Given the description of an element on the screen output the (x, y) to click on. 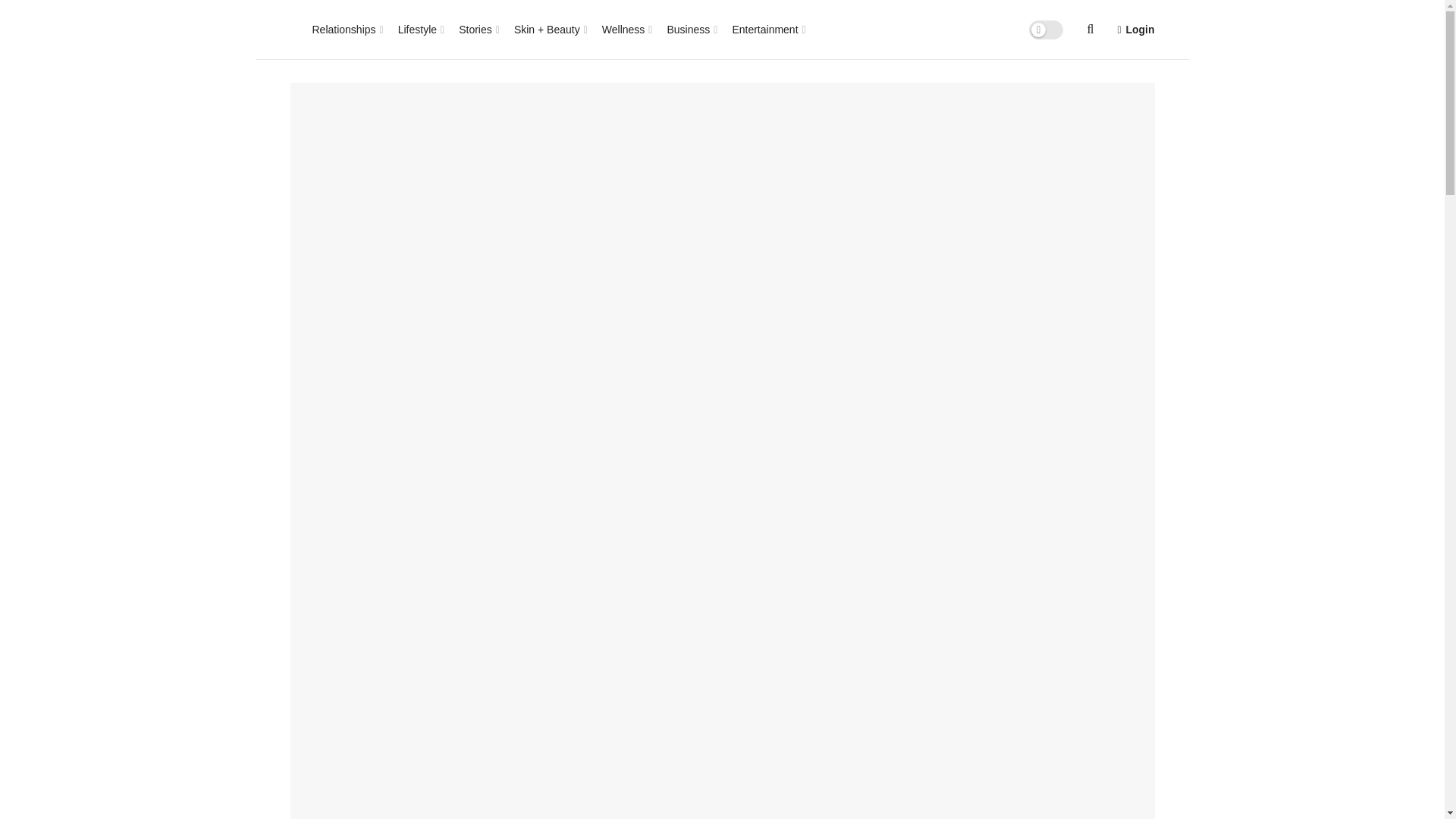
Relationships (347, 29)
Wellness (626, 29)
Lifestyle (419, 29)
Stories (477, 29)
Business (690, 29)
Entertainment (767, 29)
